Given the description of an element on the screen output the (x, y) to click on. 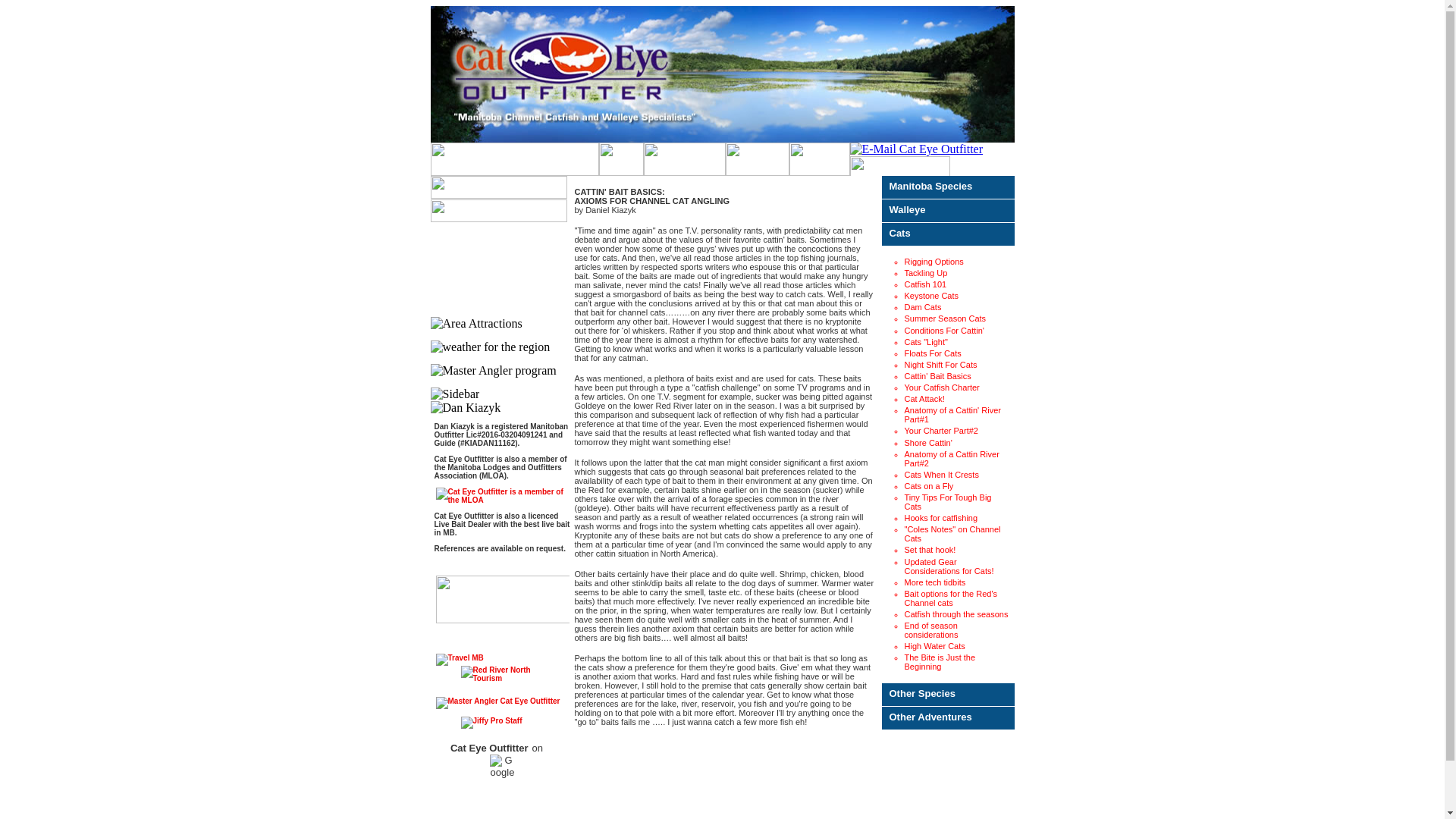
Adventures (684, 160)
Photos (818, 160)
Cat Eye Outfitter (620, 160)
Email Us (915, 149)
Cat Eye Outfitter (722, 73)
Articles (757, 160)
